Given the description of an element on the screen output the (x, y) to click on. 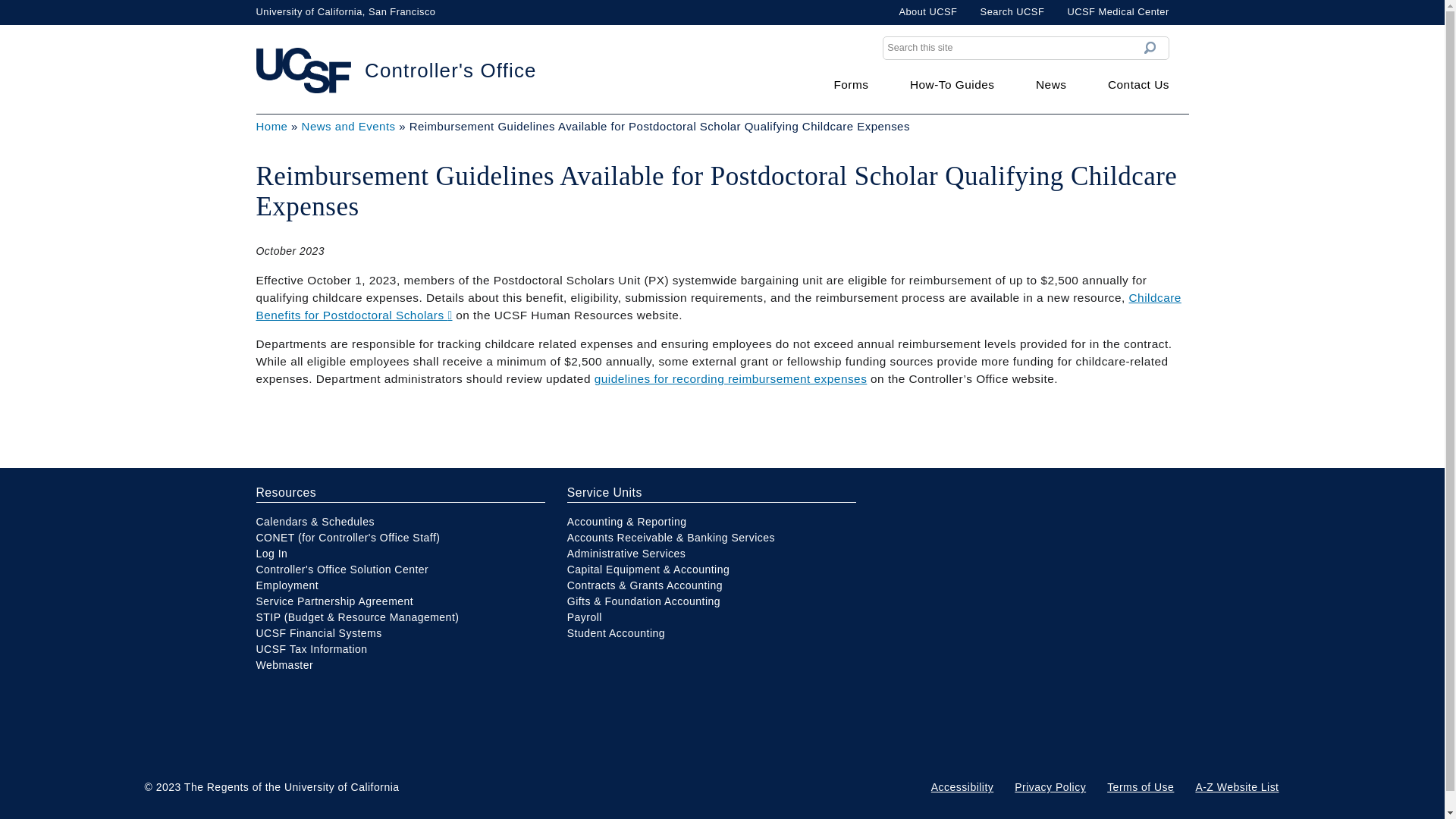
Controller's Office Solution Center (342, 569)
UCSF Financial Systems (318, 633)
Contact Us (1138, 84)
Administrative Services (626, 553)
Webmaster (285, 664)
UCSF Tax Information (312, 648)
Terms of Use (1139, 787)
News and Events (348, 125)
Service Partnership Agreement (334, 601)
